Given the description of an element on the screen output the (x, y) to click on. 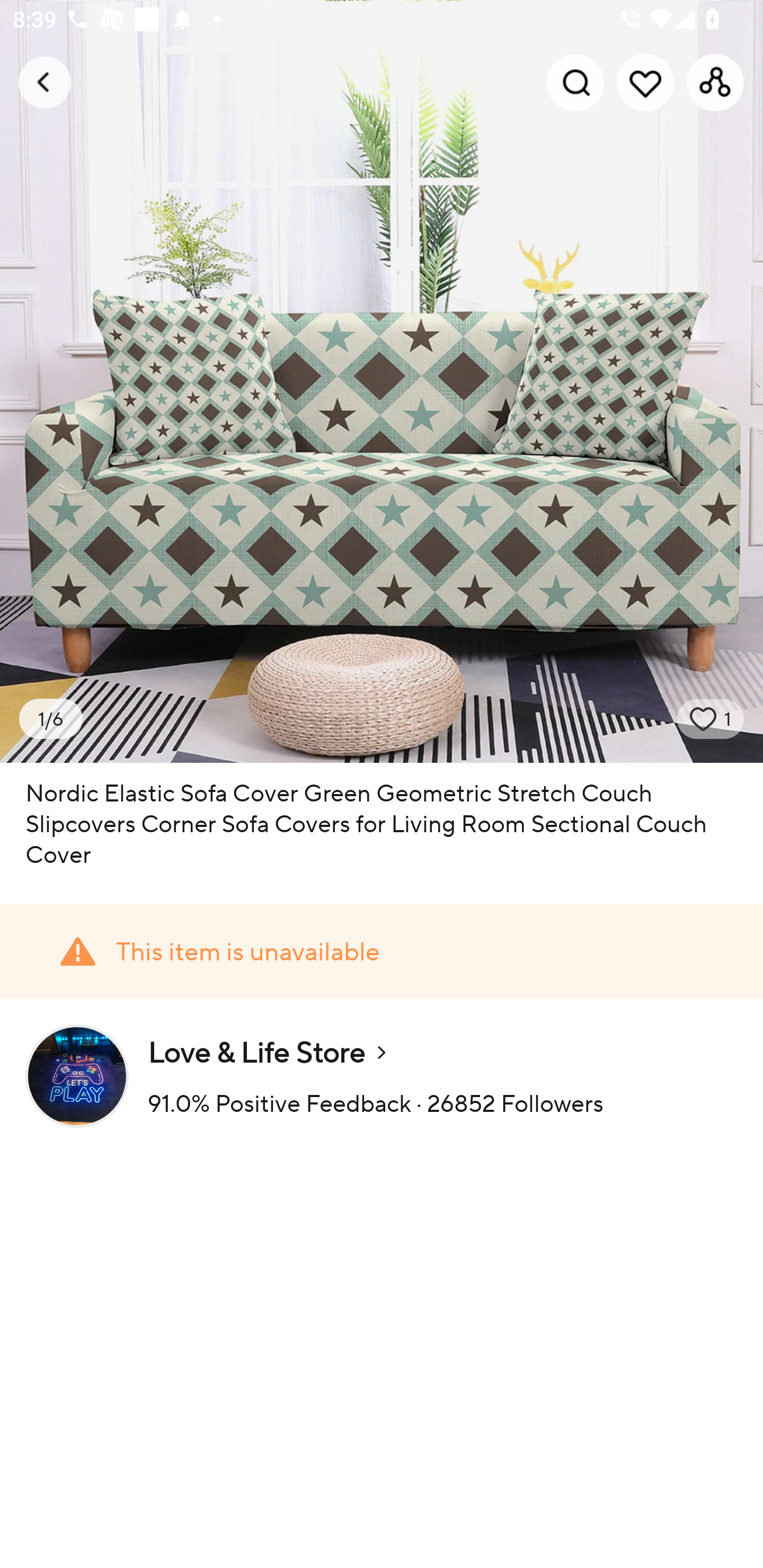
Navigate up (44, 82)
wish state 1 (710, 718)
